Given the description of an element on the screen output the (x, y) to click on. 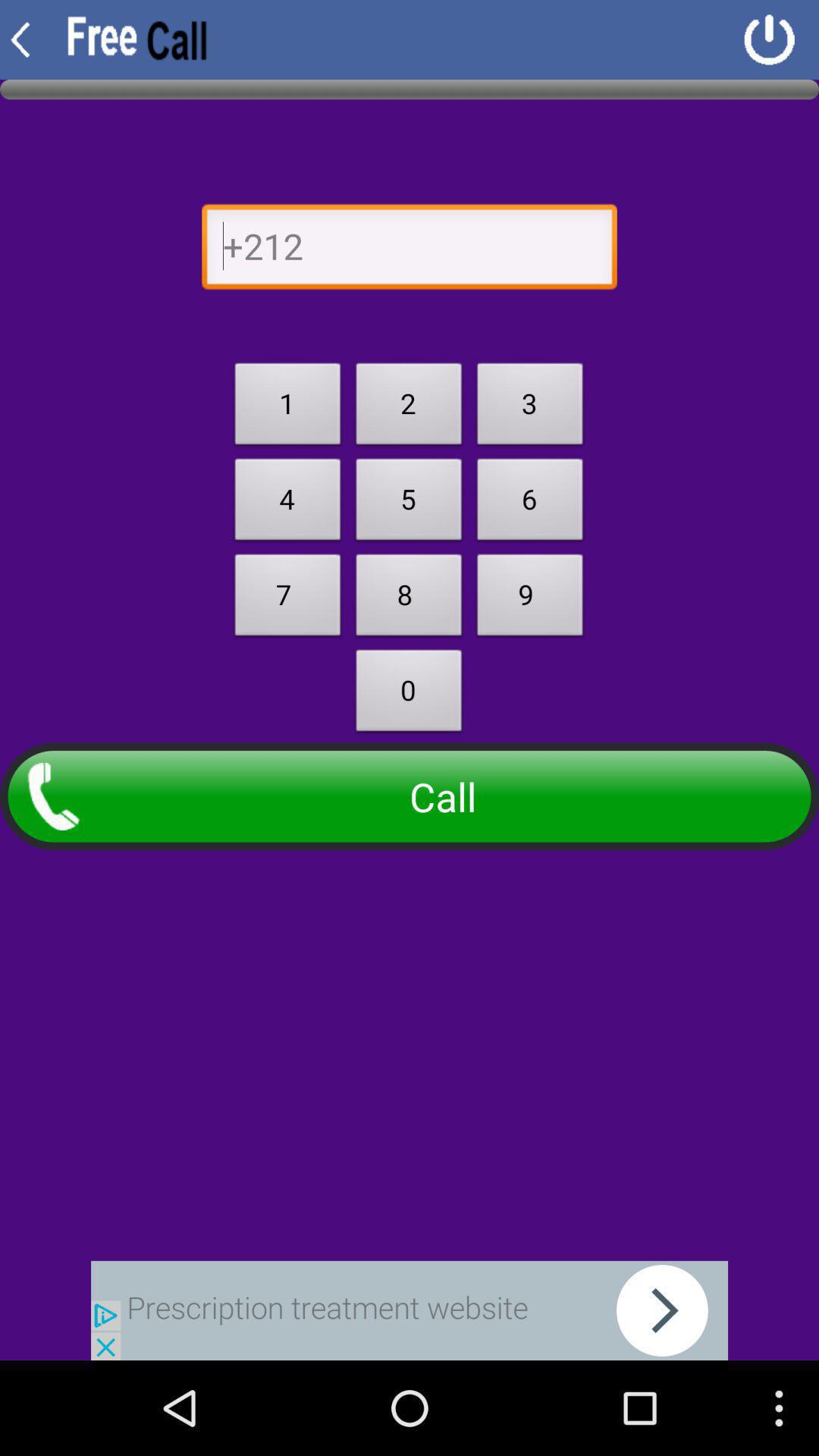
shut down app (769, 39)
